Given the description of an element on the screen output the (x, y) to click on. 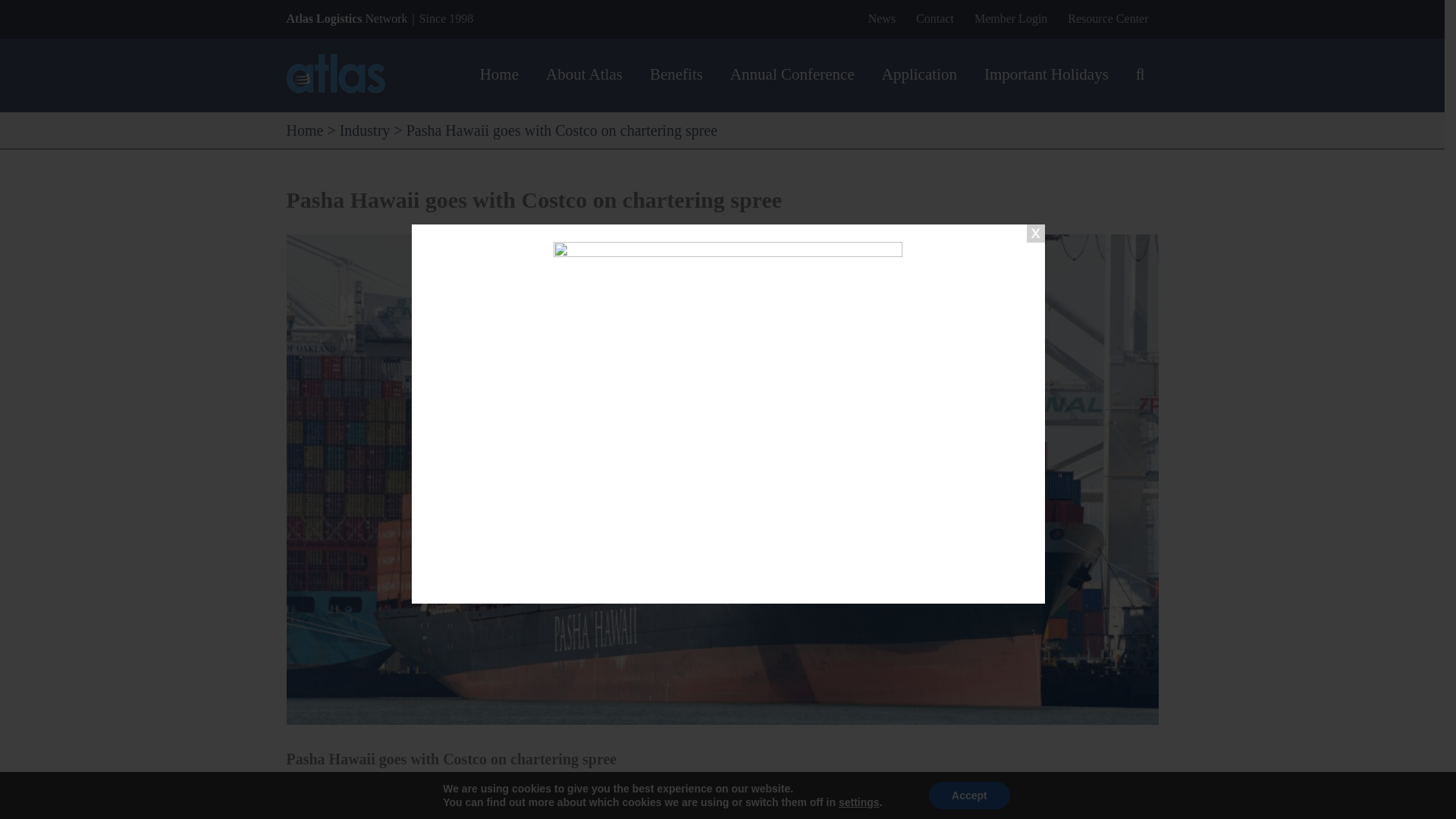
About Atlas (584, 74)
Member Login (1010, 18)
Home (304, 130)
Annual Conference (791, 74)
Resource Center (1107, 18)
Contact (934, 18)
Important Holidays (1046, 74)
Benefits (676, 74)
Since 1998 (446, 18)
Home (498, 74)
Industry (364, 130)
Application (919, 74)
News (882, 18)
